Given the description of an element on the screen output the (x, y) to click on. 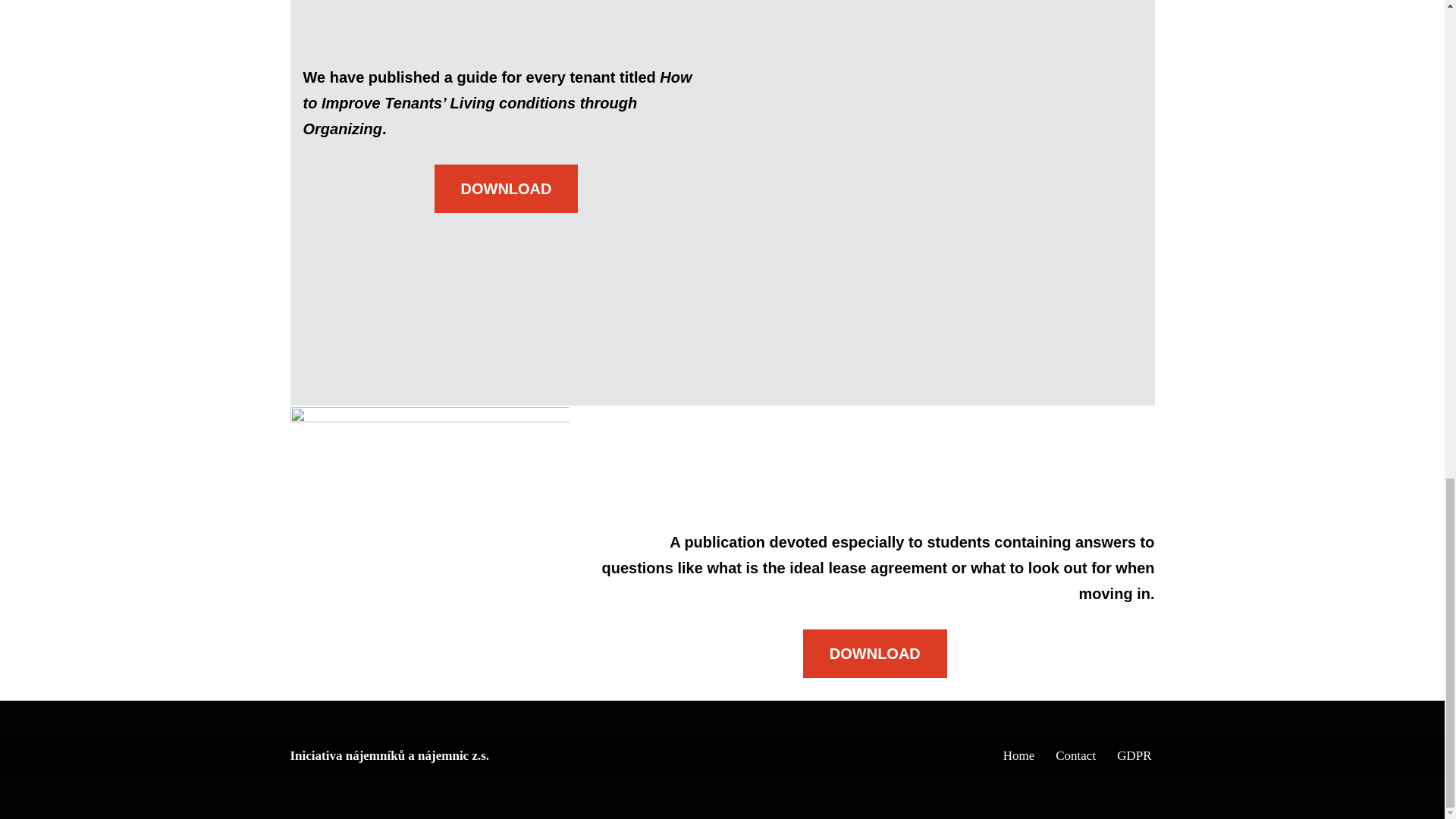
Contact (1075, 754)
DOWNLOAD (505, 188)
Home (1019, 754)
DOWNLOAD (875, 653)
